Given the description of an element on the screen output the (x, y) to click on. 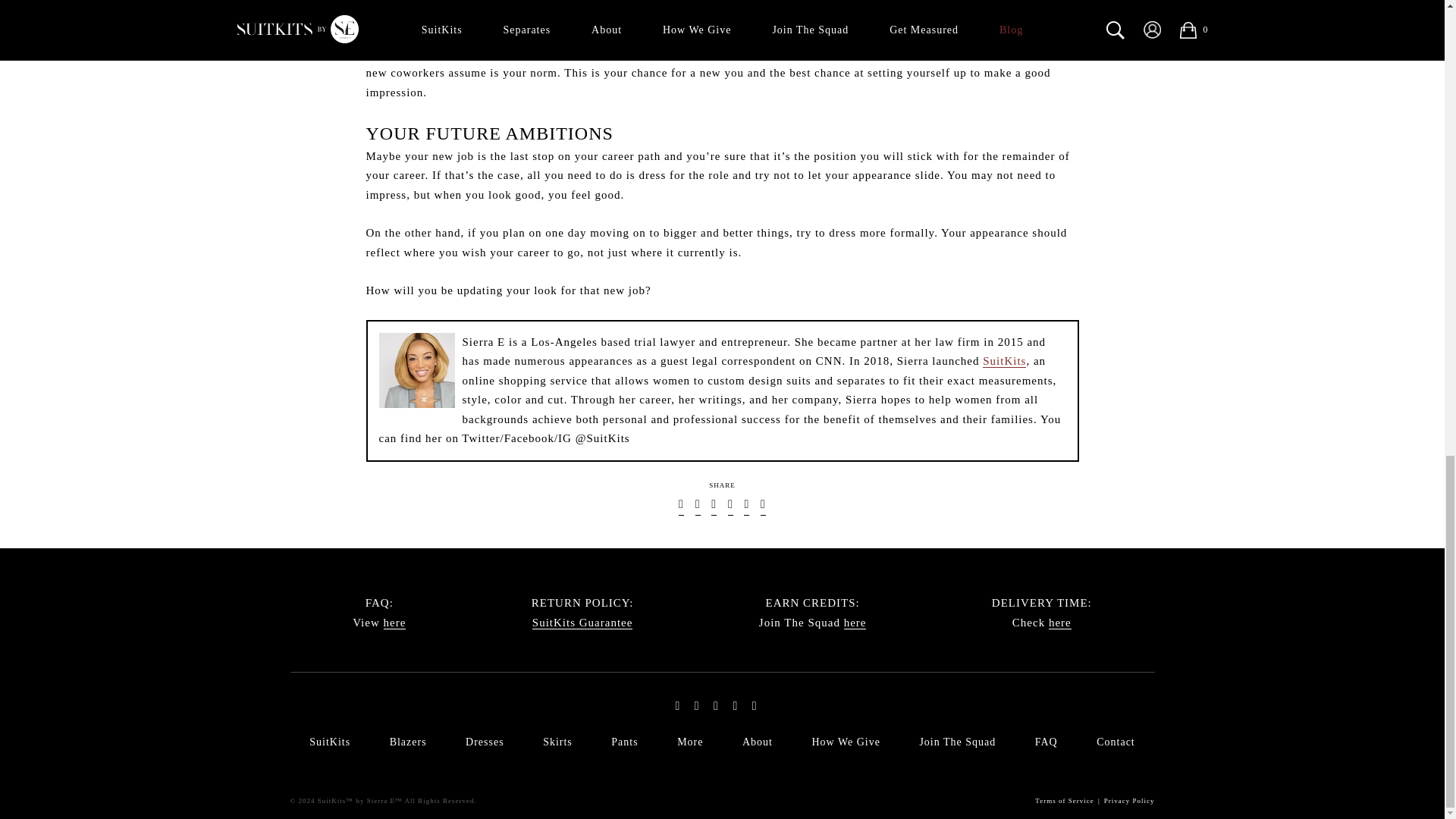
here (395, 622)
SuitKits Guarantee (582, 622)
FAQ (395, 622)
here (855, 622)
here (1059, 622)
Join The Squad (855, 622)
SuitKits (1004, 360)
